Given the description of an element on the screen output the (x, y) to click on. 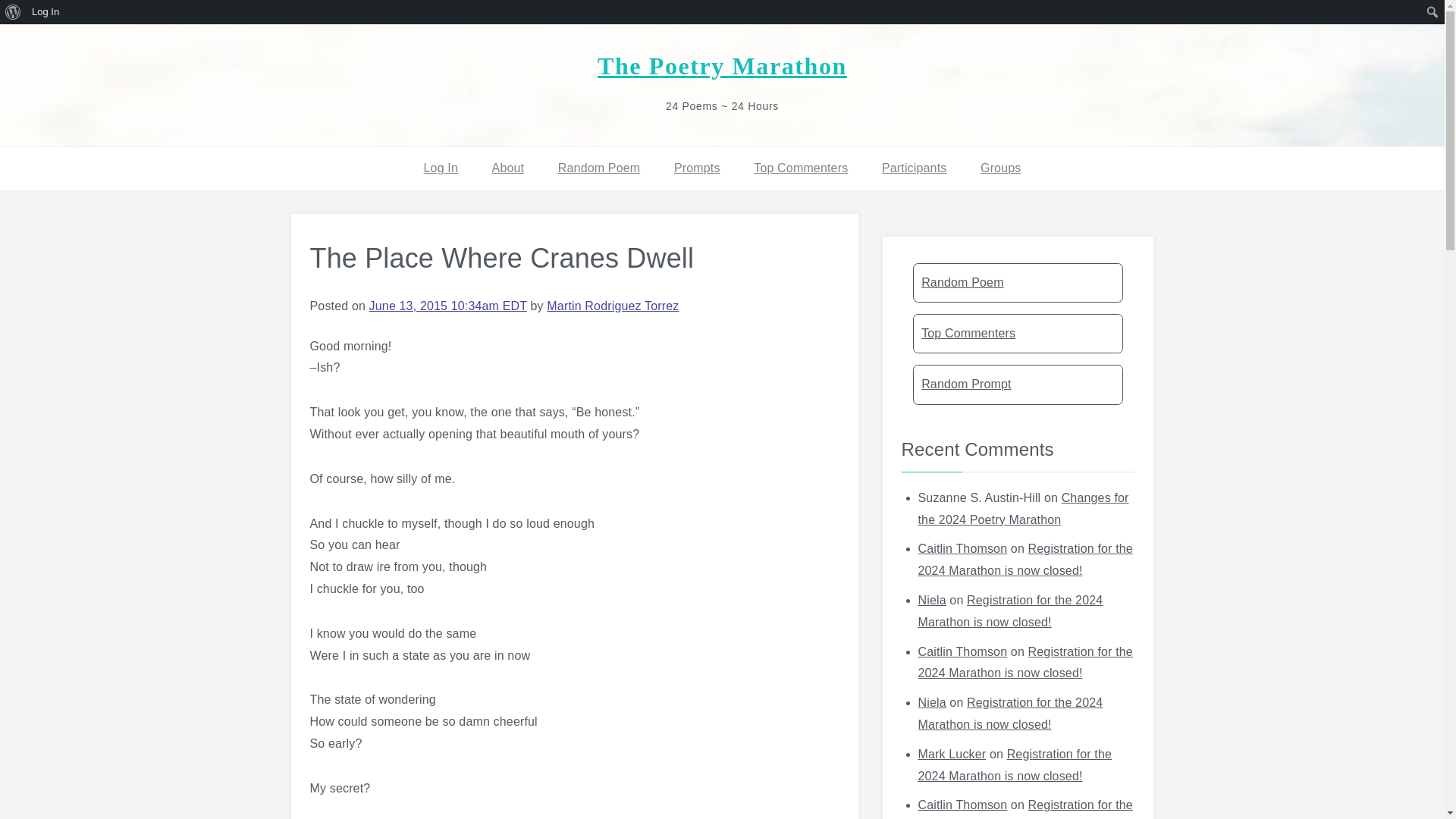
Participants (914, 168)
Caitlin Thomson (962, 651)
Niela (930, 702)
The Poetry Marathon (721, 65)
Changes for the 2024 Poetry Marathon (1022, 508)
June 13, 2015 10:34am EDT (448, 305)
Prompts (697, 168)
Registration for the 2024 Marathon is now closed! (1009, 610)
Random Prompt (1018, 384)
Mark Lucker (951, 753)
